Given the description of an element on the screen output the (x, y) to click on. 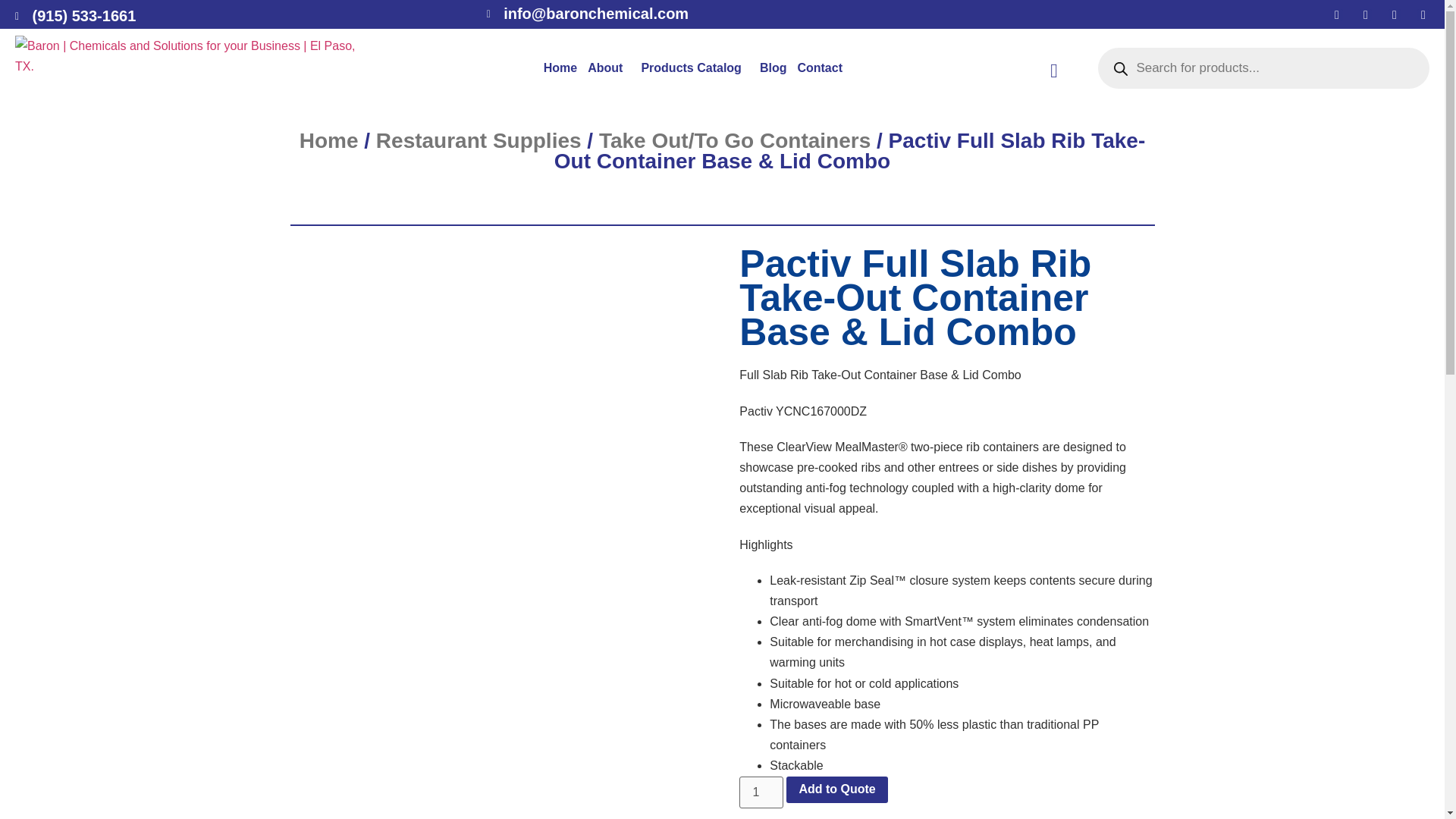
Home (560, 68)
About (608, 68)
1 (761, 792)
Products Catalog (694, 68)
